Given the description of an element on the screen output the (x, y) to click on. 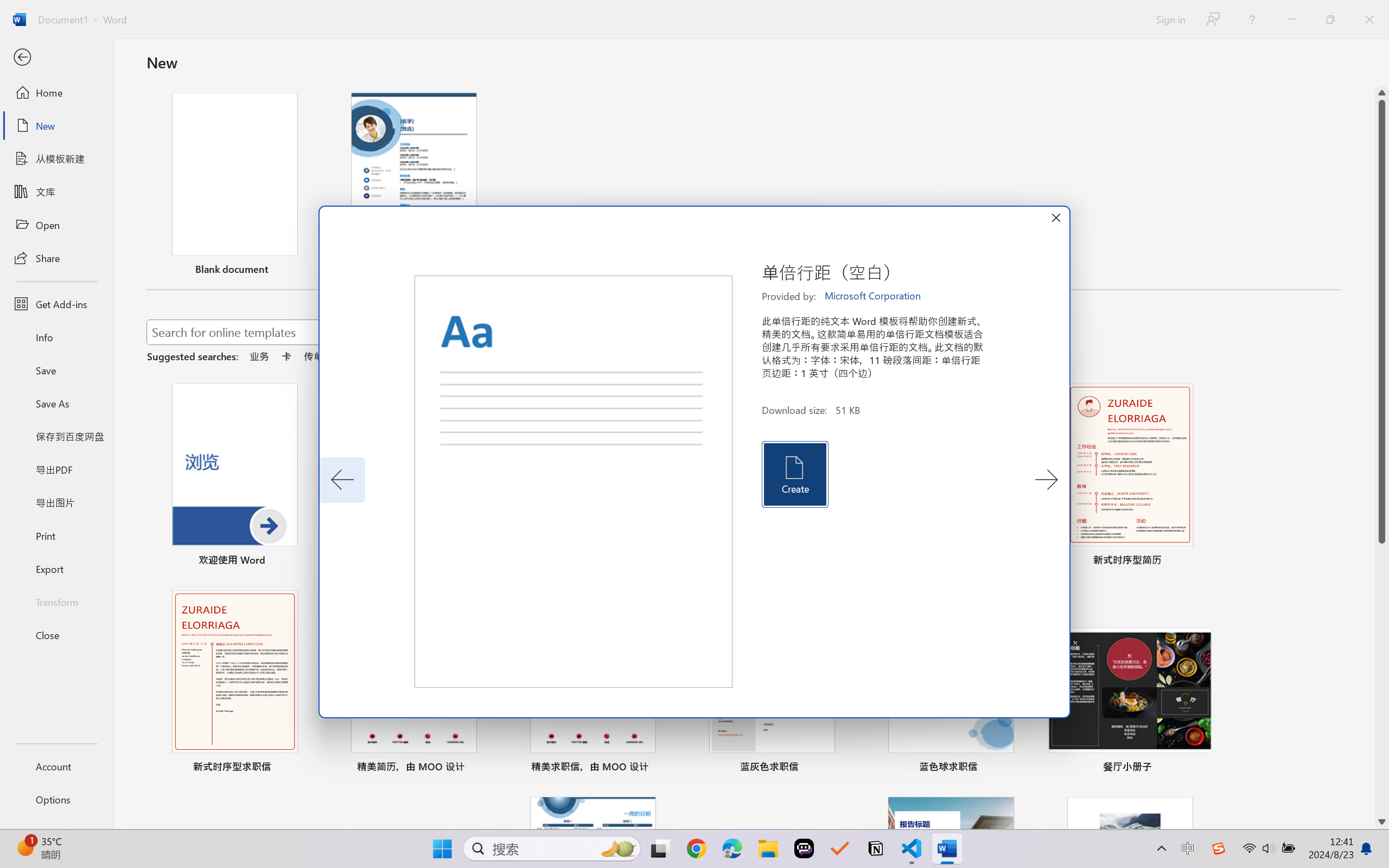
Export (56, 568)
Next Template (1046, 479)
Transform (56, 601)
New (56, 125)
Pin to list (1200, 767)
Back (56, 57)
Info (56, 337)
